Given the description of an element on the screen output the (x, y) to click on. 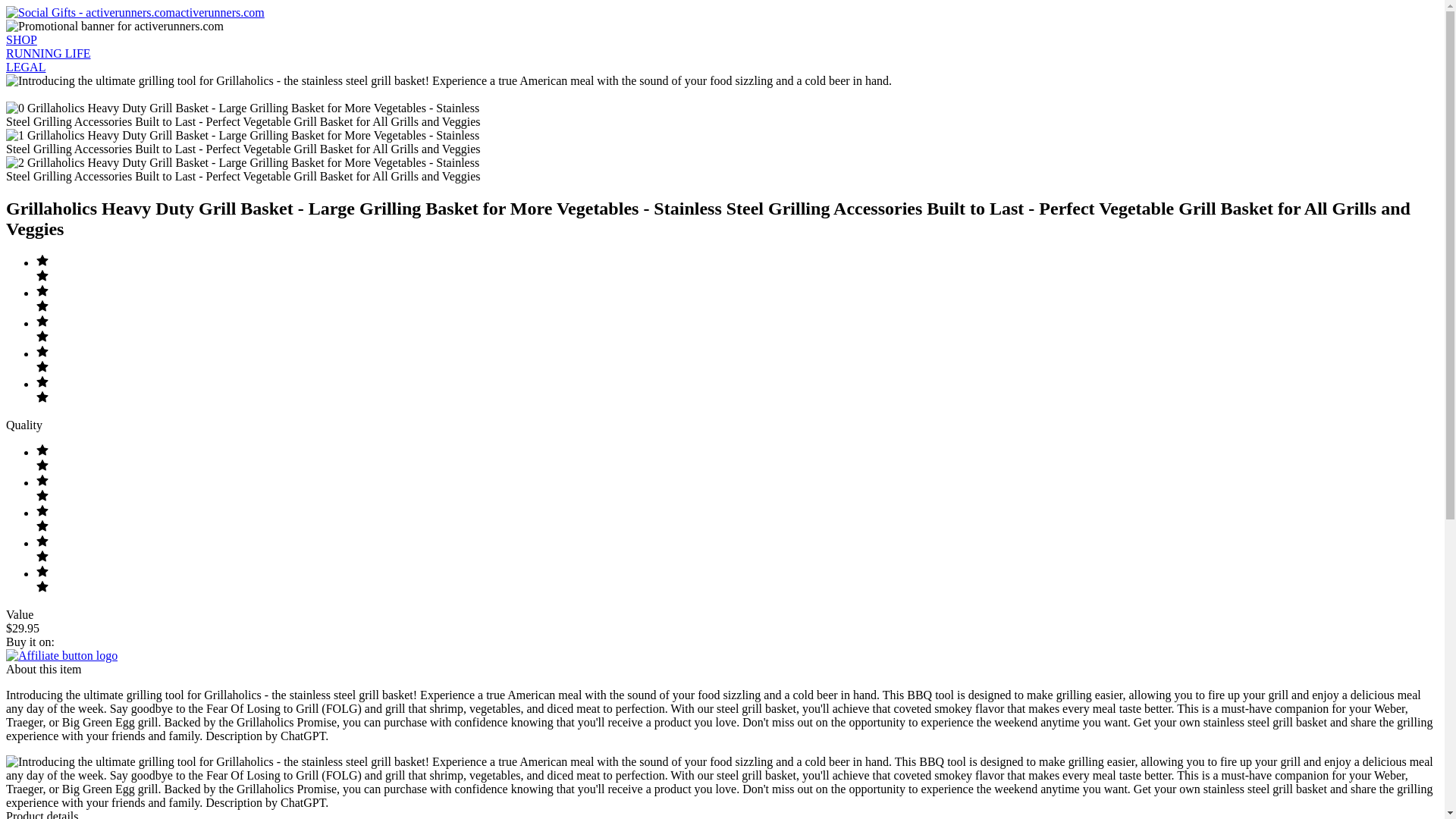
activerunners.com (134, 11)
activerunners.com (134, 11)
